Given the description of an element on the screen output the (x, y) to click on. 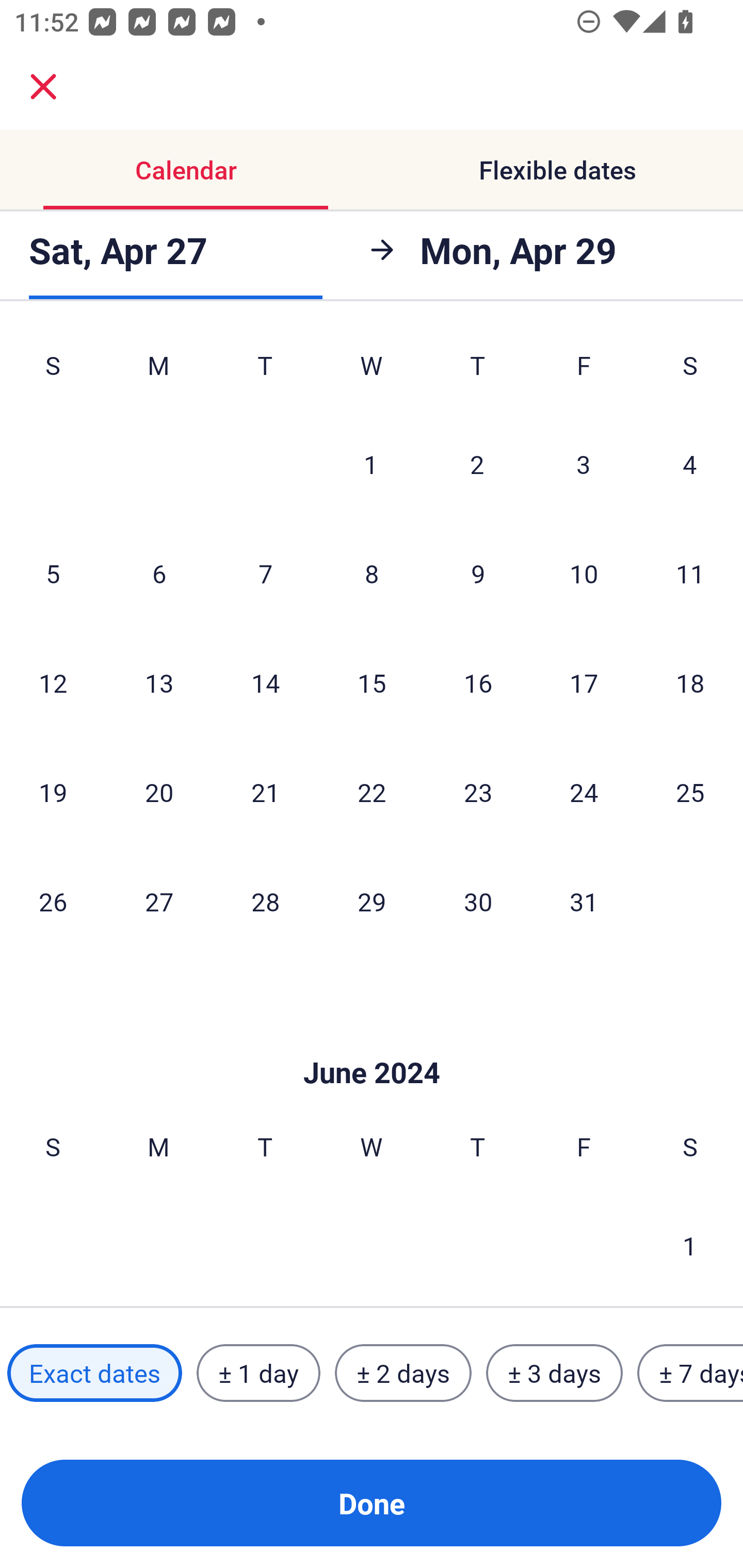
close. (43, 86)
Flexible dates (557, 170)
1 Wednesday, May 1, 2024 (371, 463)
2 Thursday, May 2, 2024 (477, 463)
3 Friday, May 3, 2024 (583, 463)
4 Saturday, May 4, 2024 (689, 463)
5 Sunday, May 5, 2024 (53, 572)
6 Monday, May 6, 2024 (159, 572)
7 Tuesday, May 7, 2024 (265, 572)
8 Wednesday, May 8, 2024 (371, 572)
9 Thursday, May 9, 2024 (477, 572)
10 Friday, May 10, 2024 (584, 572)
11 Saturday, May 11, 2024 (690, 572)
12 Sunday, May 12, 2024 (53, 682)
13 Monday, May 13, 2024 (159, 682)
14 Tuesday, May 14, 2024 (265, 682)
15 Wednesday, May 15, 2024 (371, 682)
16 Thursday, May 16, 2024 (477, 682)
17 Friday, May 17, 2024 (584, 682)
18 Saturday, May 18, 2024 (690, 682)
19 Sunday, May 19, 2024 (53, 791)
20 Monday, May 20, 2024 (159, 791)
21 Tuesday, May 21, 2024 (265, 791)
22 Wednesday, May 22, 2024 (371, 791)
23 Thursday, May 23, 2024 (477, 791)
24 Friday, May 24, 2024 (584, 791)
25 Saturday, May 25, 2024 (690, 791)
26 Sunday, May 26, 2024 (53, 901)
27 Monday, May 27, 2024 (159, 901)
28 Tuesday, May 28, 2024 (265, 901)
29 Wednesday, May 29, 2024 (371, 901)
30 Thursday, May 30, 2024 (477, 901)
31 Friday, May 31, 2024 (584, 901)
Skip to Done (371, 1041)
1 Saturday, June 1, 2024 (689, 1245)
Exact dates (94, 1372)
± 1 day (258, 1372)
± 2 days (403, 1372)
± 3 days (553, 1372)
± 7 days (690, 1372)
Done (371, 1502)
